Given the description of an element on the screen output the (x, y) to click on. 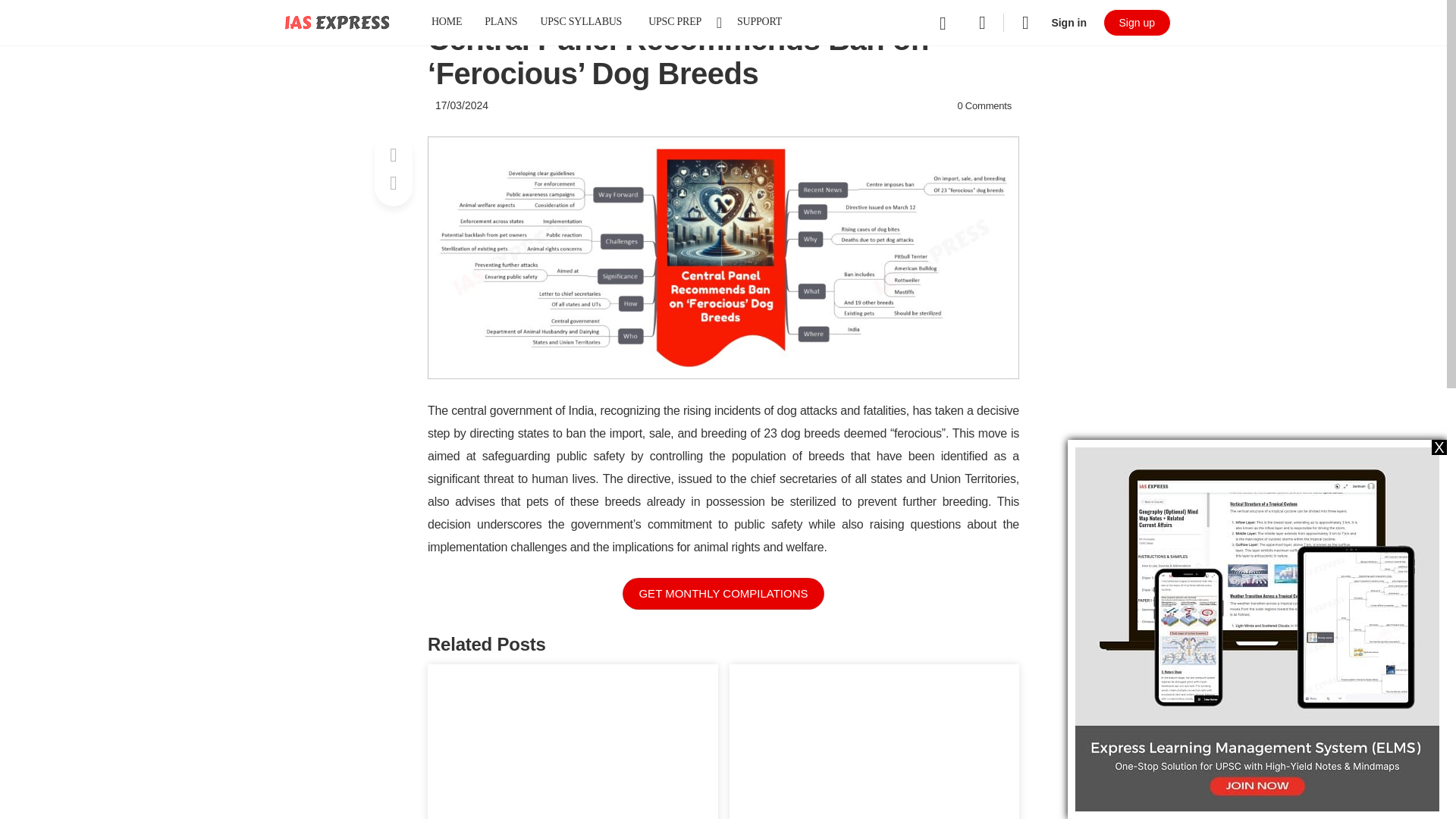
UPSC PREP (681, 22)
HOME (445, 22)
UPSC SYLLABUS (580, 22)
PLANS (500, 22)
